Given the description of an element on the screen output the (x, y) to click on. 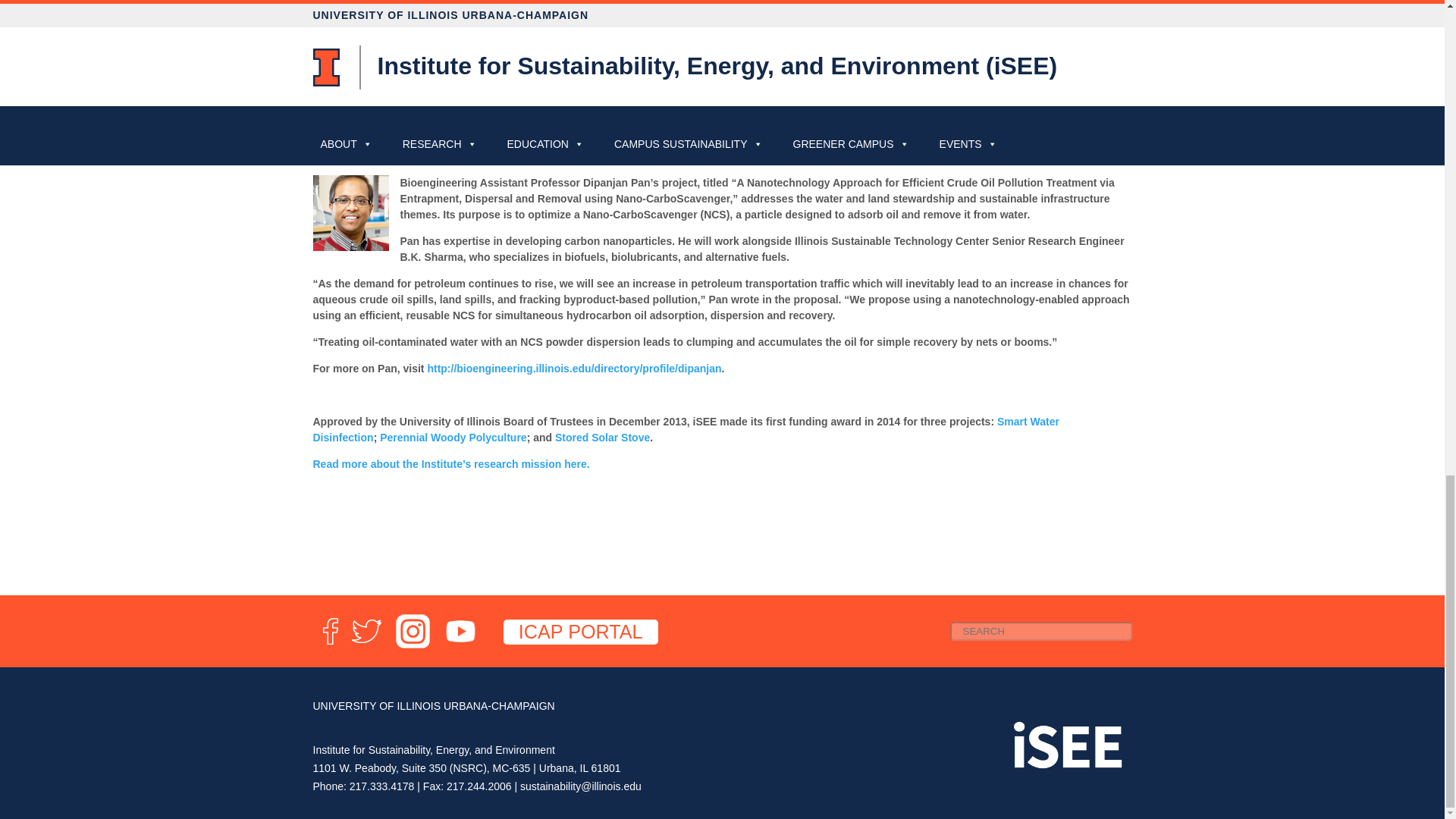
YouTube (460, 644)
Instagram (412, 644)
Facebook (329, 644)
Twitter (366, 644)
Search for: (1040, 630)
ICAP PORTAL (580, 632)
